Given the description of an element on the screen output the (x, y) to click on. 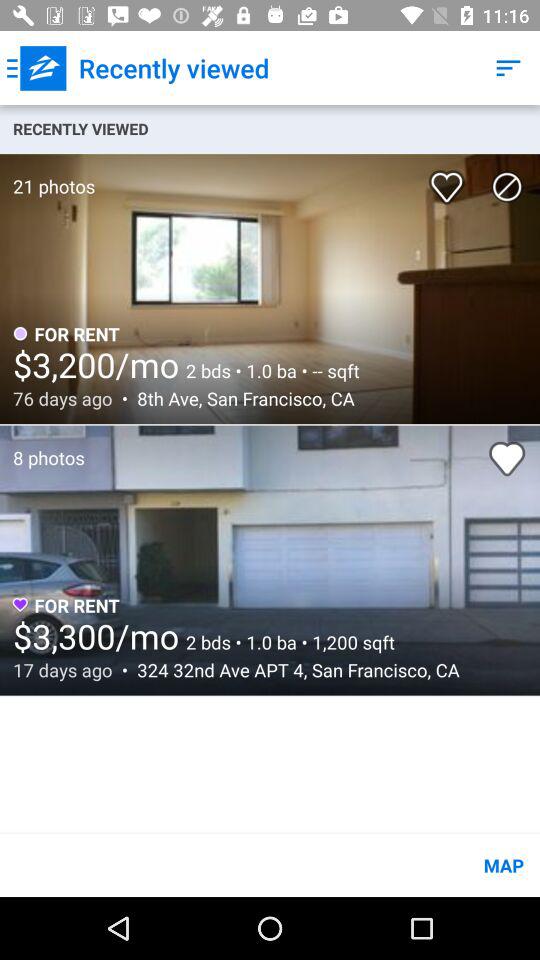
click on the icon heart which is purple in colour (20, 605)
click the top right side button (508, 68)
click on second image of like option (507, 458)
